Given the description of an element on the screen output the (x, y) to click on. 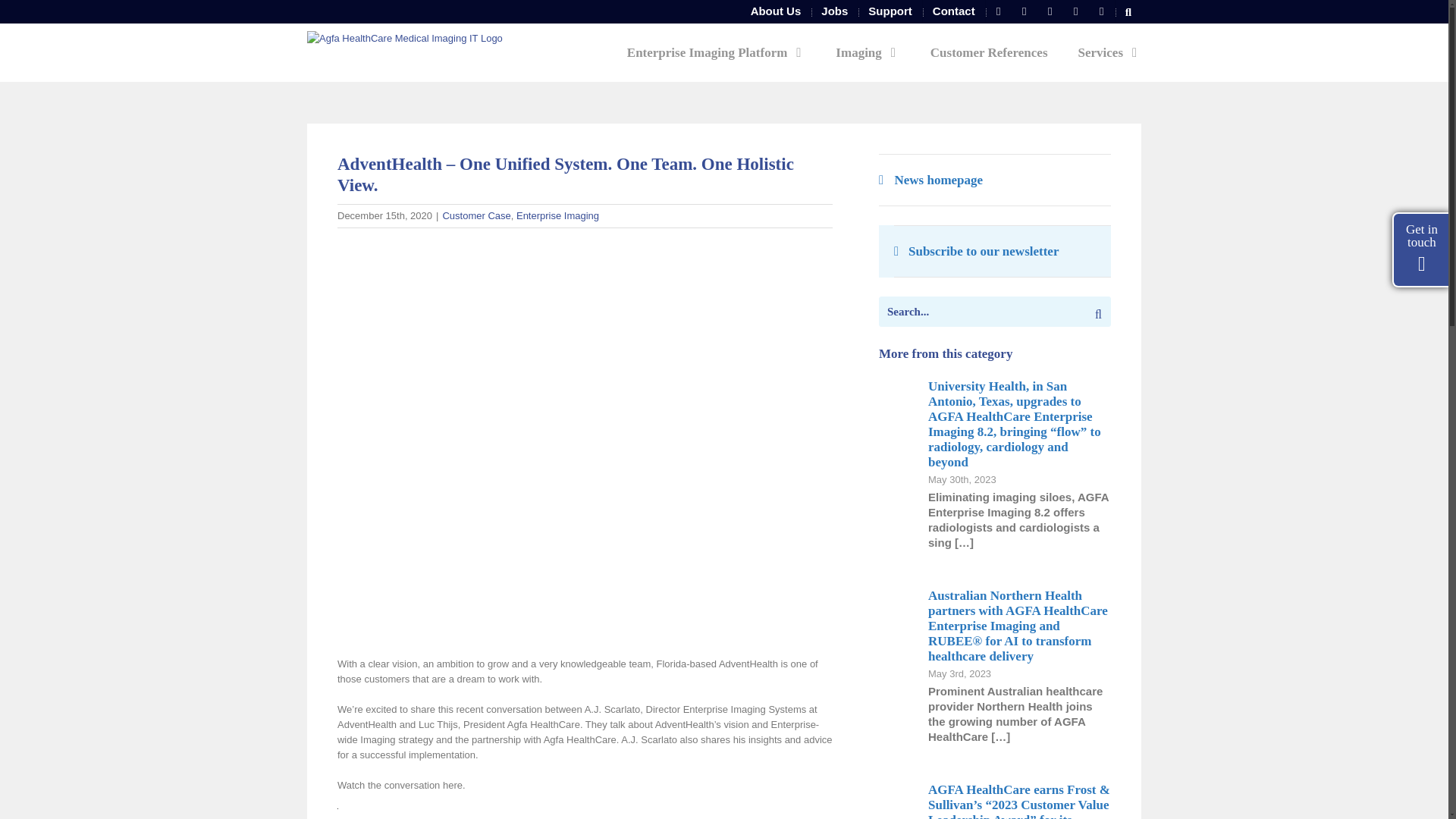
Contact (954, 11)
Jobs (833, 11)
Enterprise Imaging Platform (716, 52)
Support (890, 11)
Search (1128, 11)
Imaging (867, 52)
About Us (775, 11)
